Given the description of an element on the screen output the (x, y) to click on. 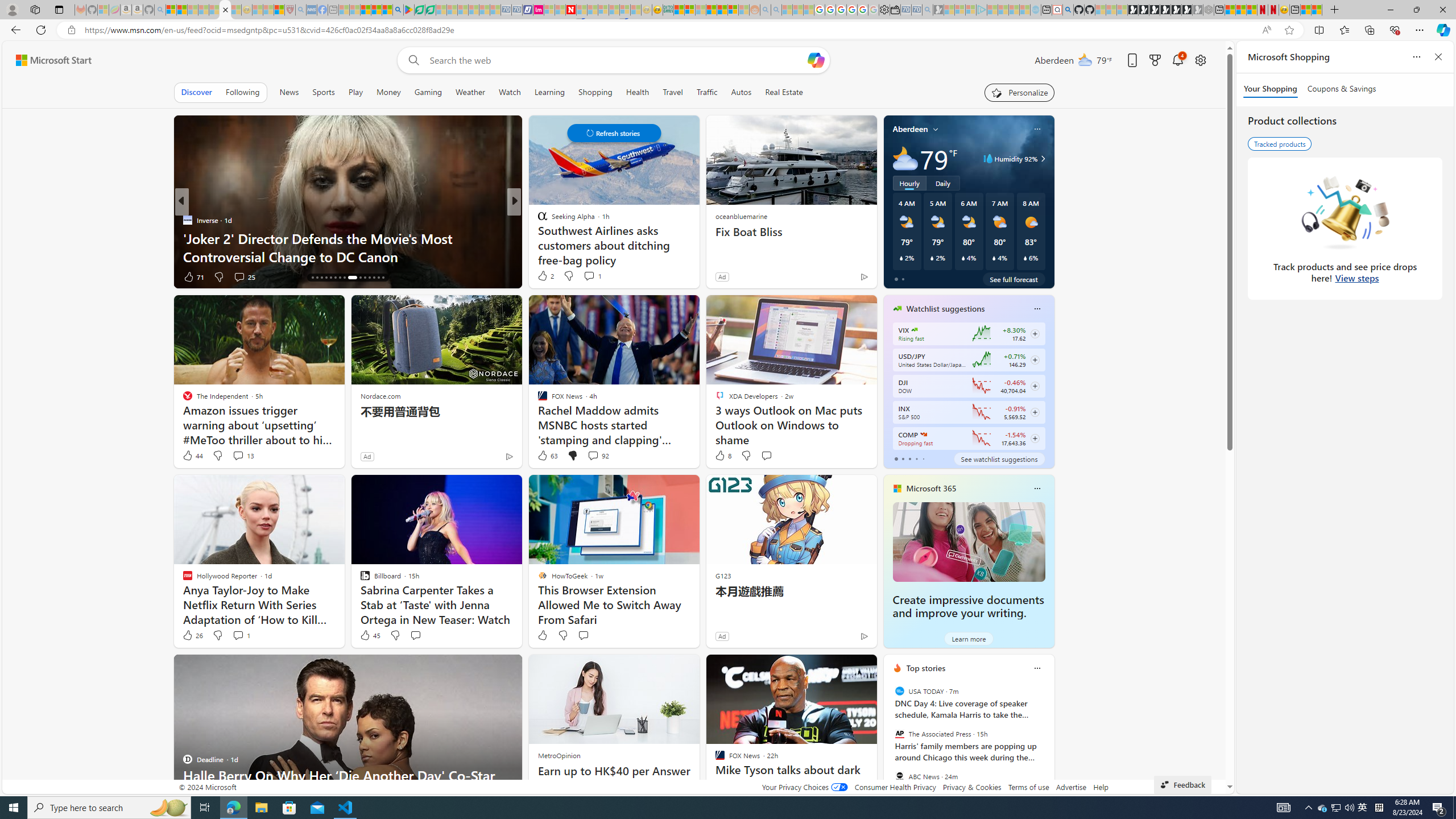
2 Like (545, 275)
